Given the description of an element on the screen output the (x, y) to click on. 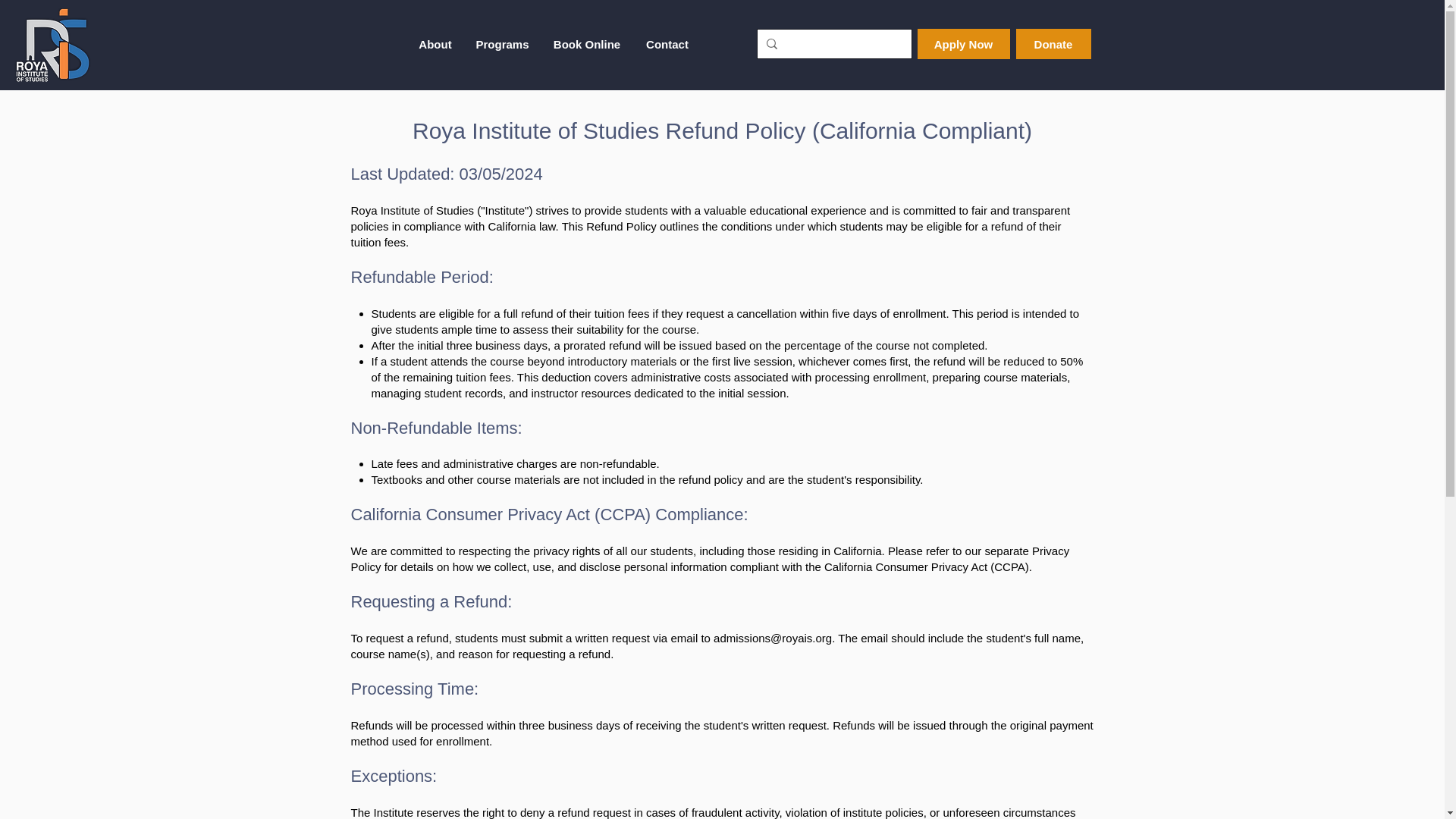
Book Online (586, 44)
Programs (502, 44)
About (435, 44)
Contact (667, 44)
Apply Now (963, 43)
Donate (1053, 43)
